Given the description of an element on the screen output the (x, y) to click on. 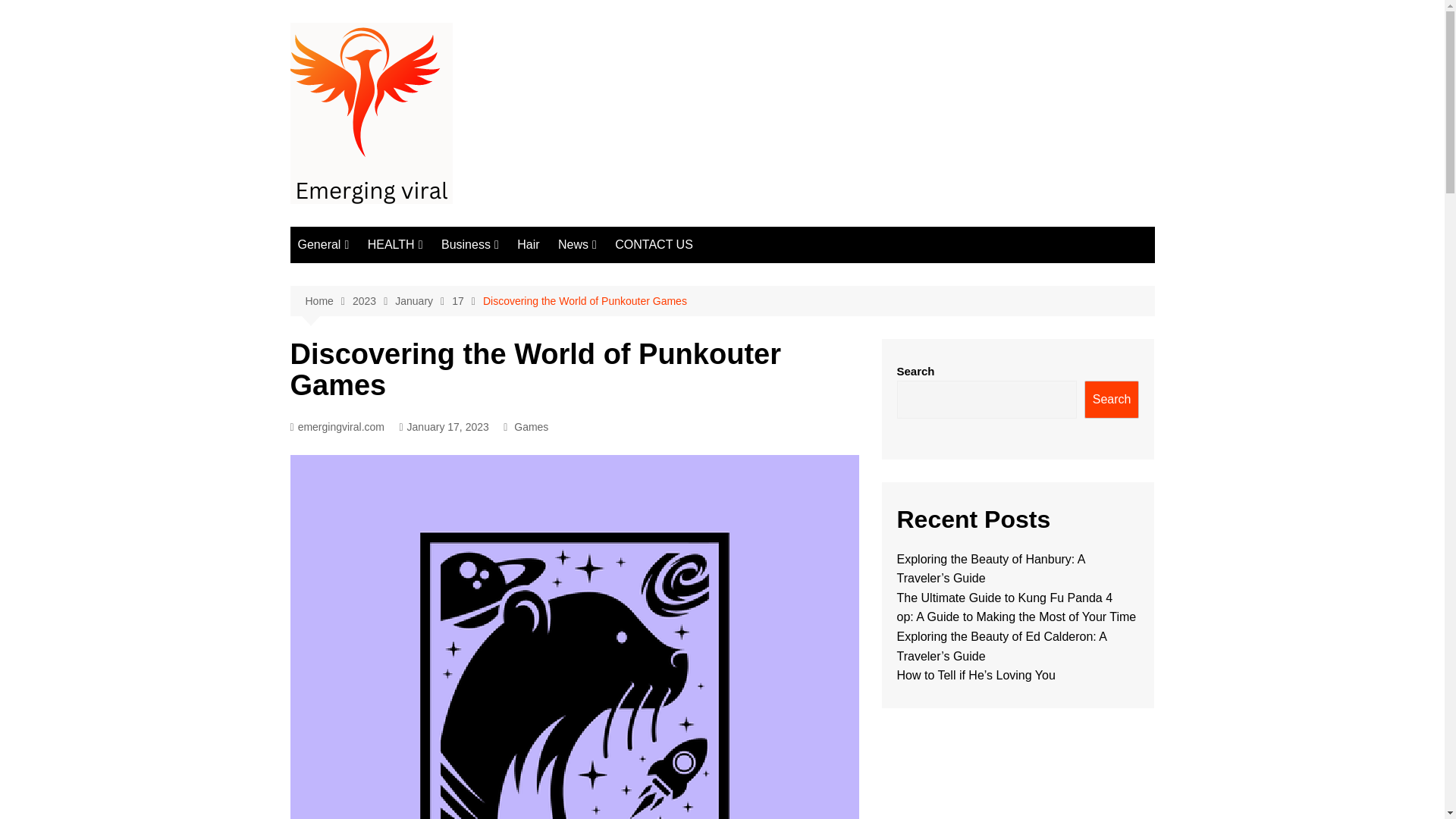
emergingviral.com (336, 426)
Teen Health (443, 425)
Yoga (443, 300)
January (422, 301)
Massage (443, 400)
Games (530, 426)
LIFE STYLE (373, 375)
Business (469, 244)
Drug Rehab (443, 350)
Beauty (373, 325)
Discovering the World of Punkouter Games (585, 300)
Foods (373, 400)
Home (328, 301)
SEO (633, 300)
Allergy (373, 300)
